Given the description of an element on the screen output the (x, y) to click on. 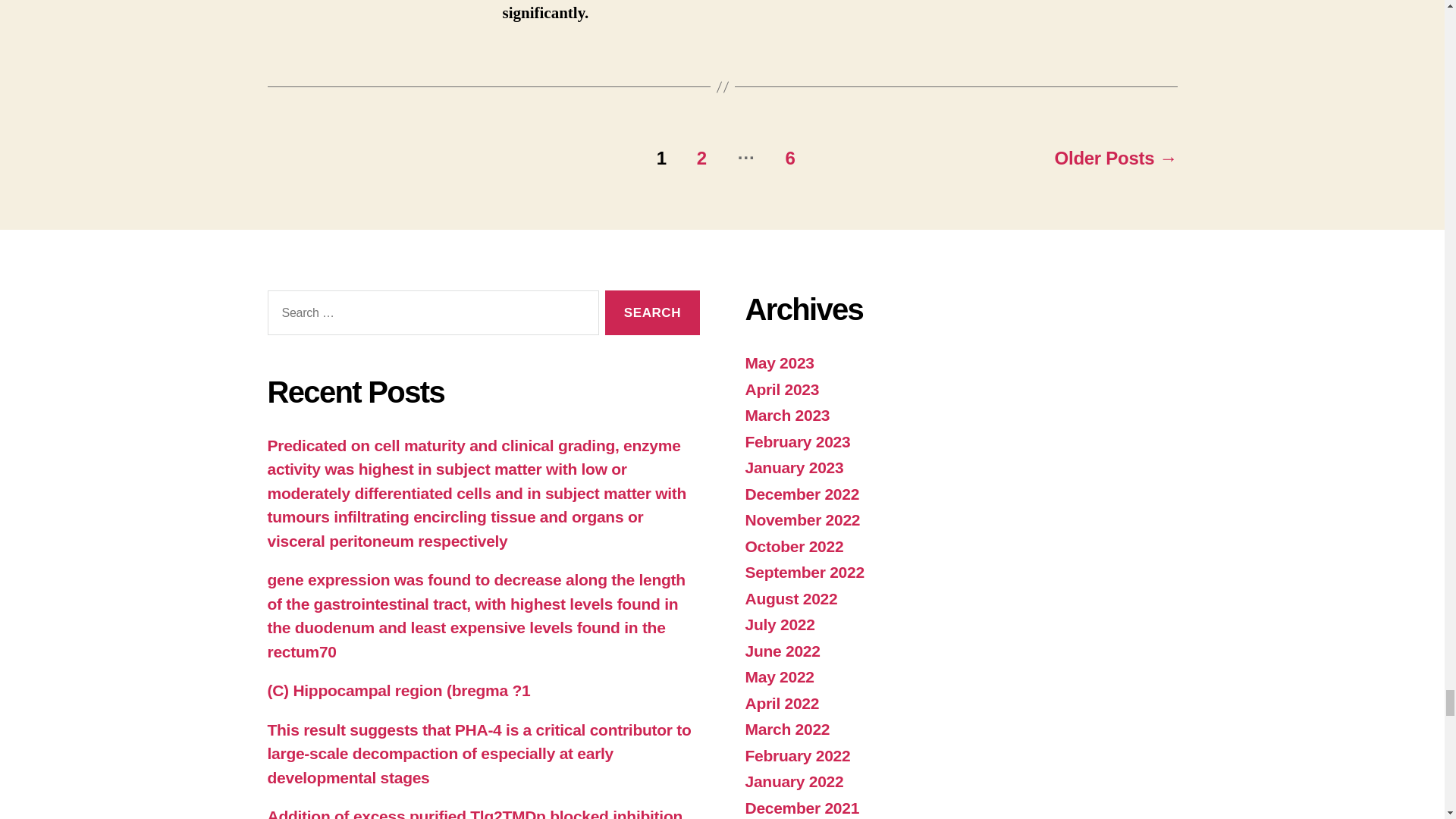
Search (651, 312)
Search (651, 312)
